Given the description of an element on the screen output the (x, y) to click on. 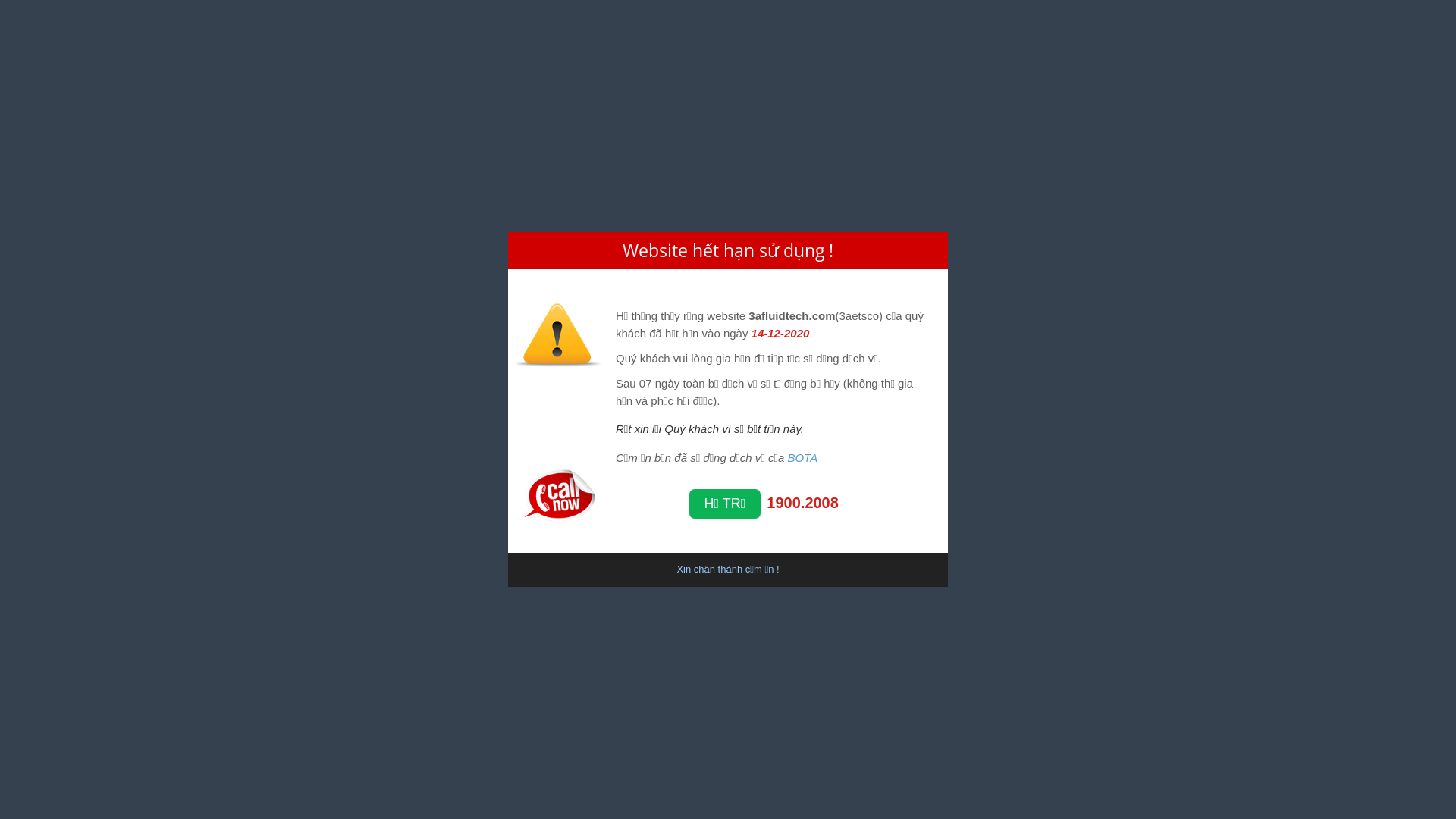
1900.2008 Element type: text (802, 502)
BOTA Element type: text (802, 457)
